Given the description of an element on the screen output the (x, y) to click on. 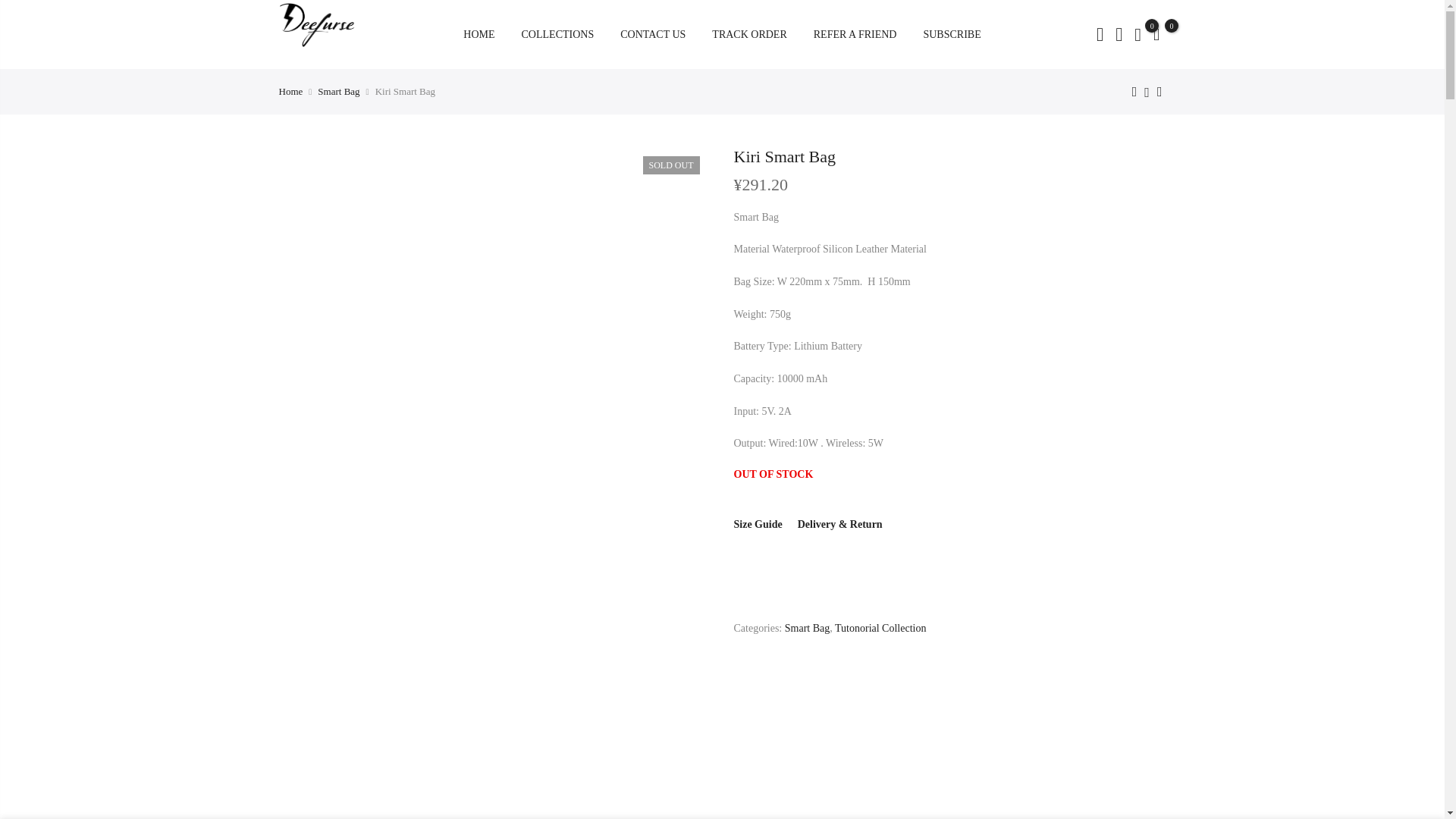
REFER A FRIEND (854, 34)
Home (290, 91)
SUBSCRIBE (951, 34)
HOME (479, 34)
COLLECTIONS (557, 34)
CONTACT US (652, 34)
TRACK ORDER (748, 34)
Smart Bag (338, 91)
